Given the description of an element on the screen output the (x, y) to click on. 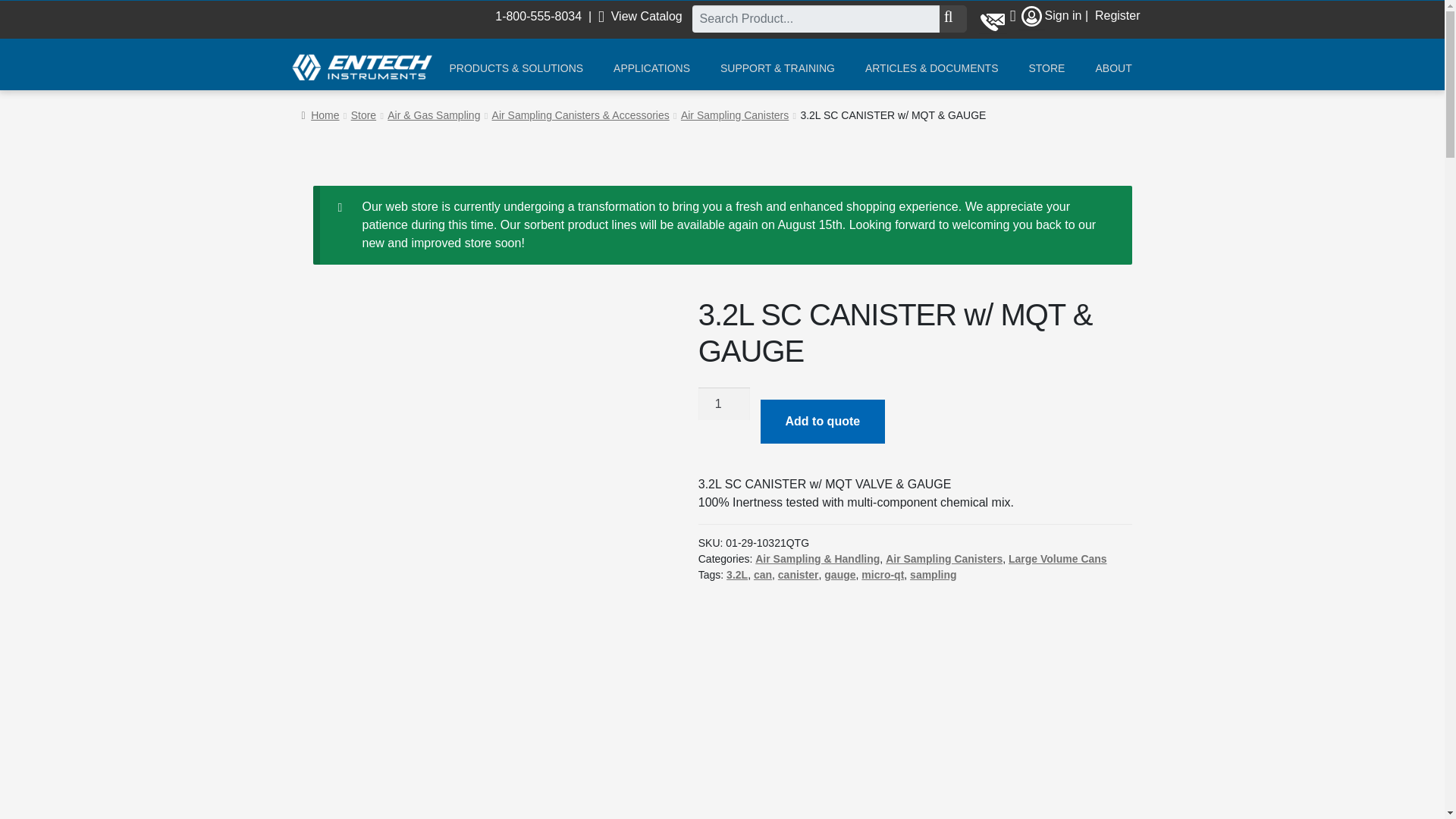
  View Catalog (640, 15)
Register (1117, 15)
Sign in (1063, 15)
Contact Us (992, 19)
1 (723, 403)
